Given the description of an element on the screen output the (x, y) to click on. 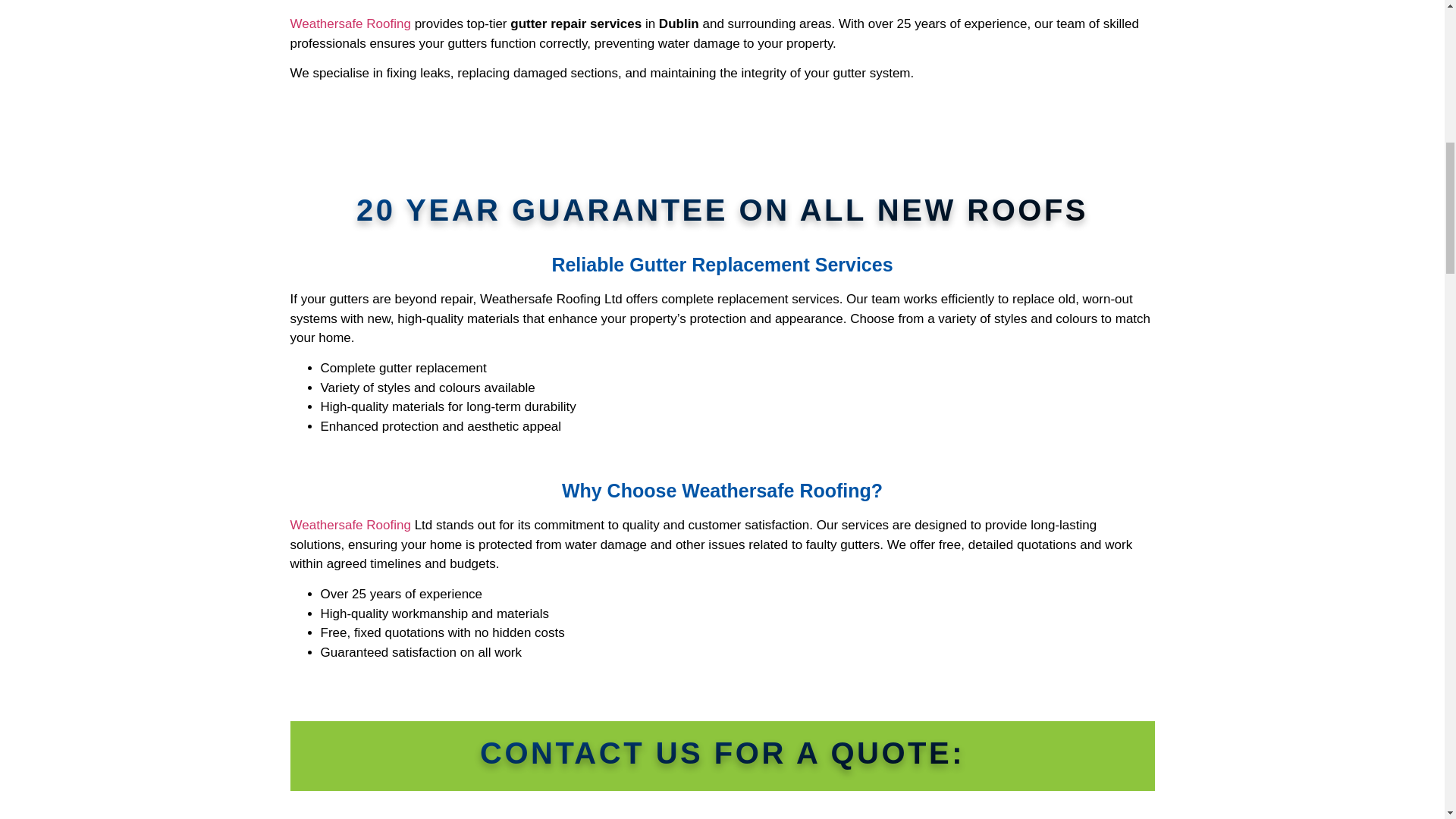
Weathersafe Roofing (349, 23)
